Given the description of an element on the screen output the (x, y) to click on. 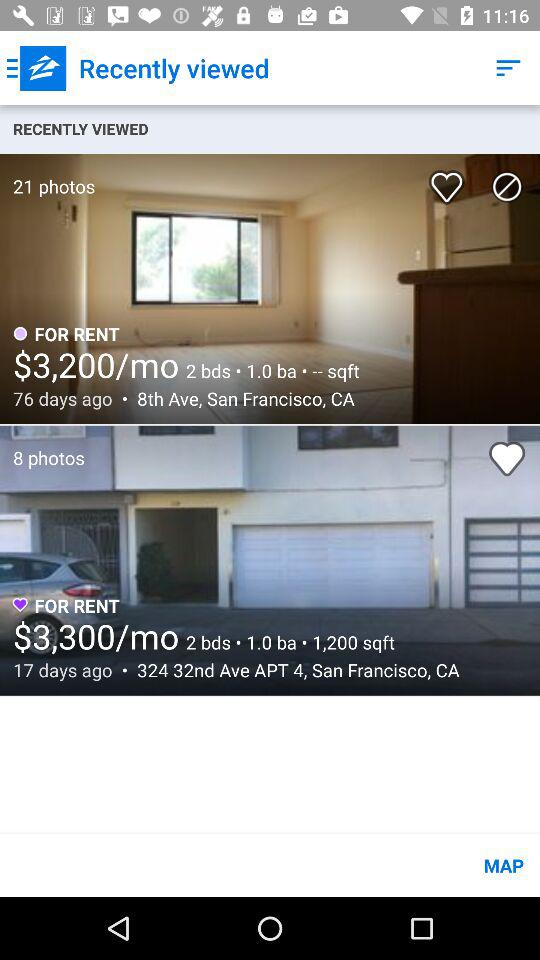
press icon to the right of the 21 photos (450, 180)
